Given the description of an element on the screen output the (x, y) to click on. 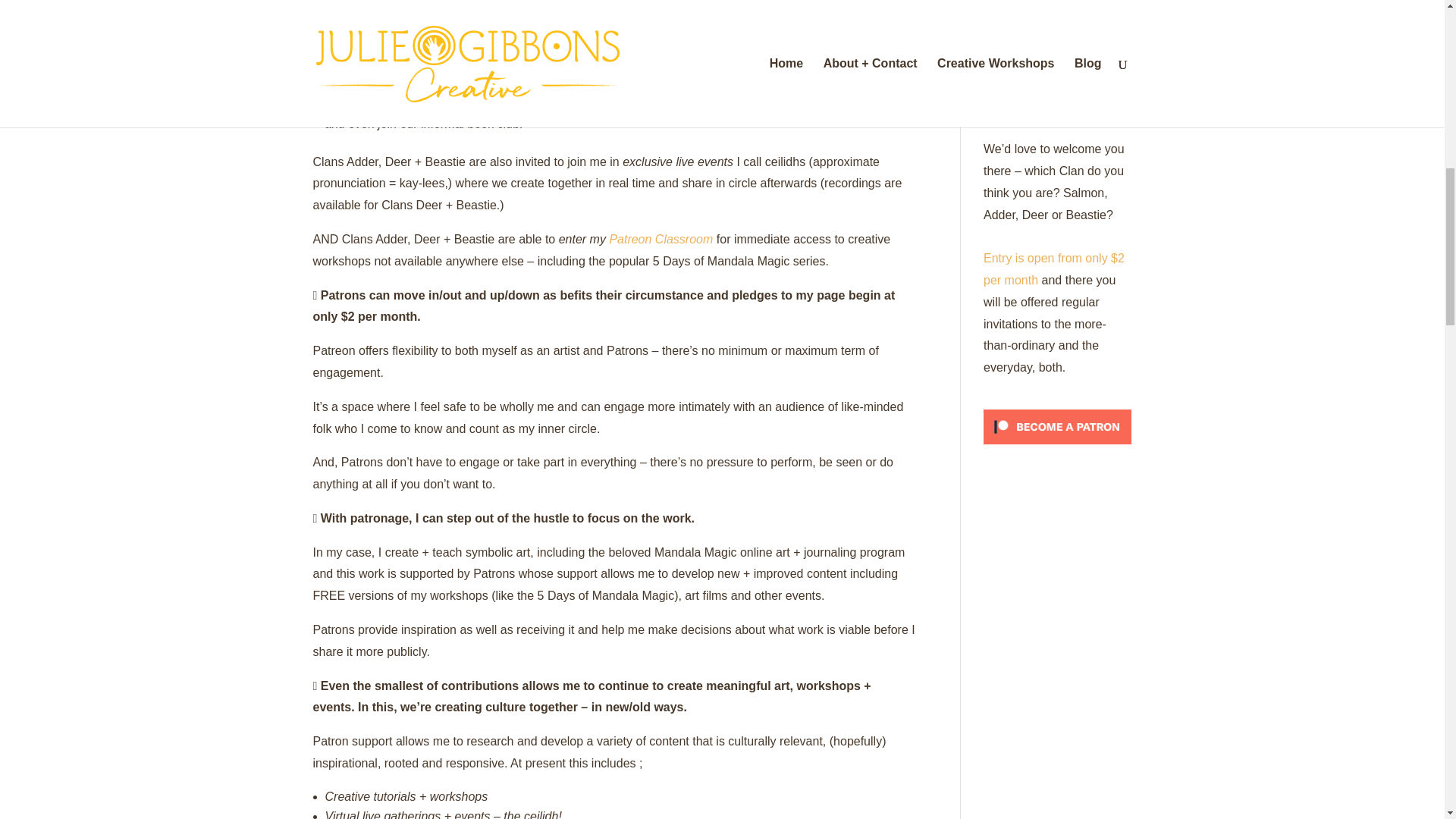
Patreon Classroom (660, 238)
